Given the description of an element on the screen output the (x, y) to click on. 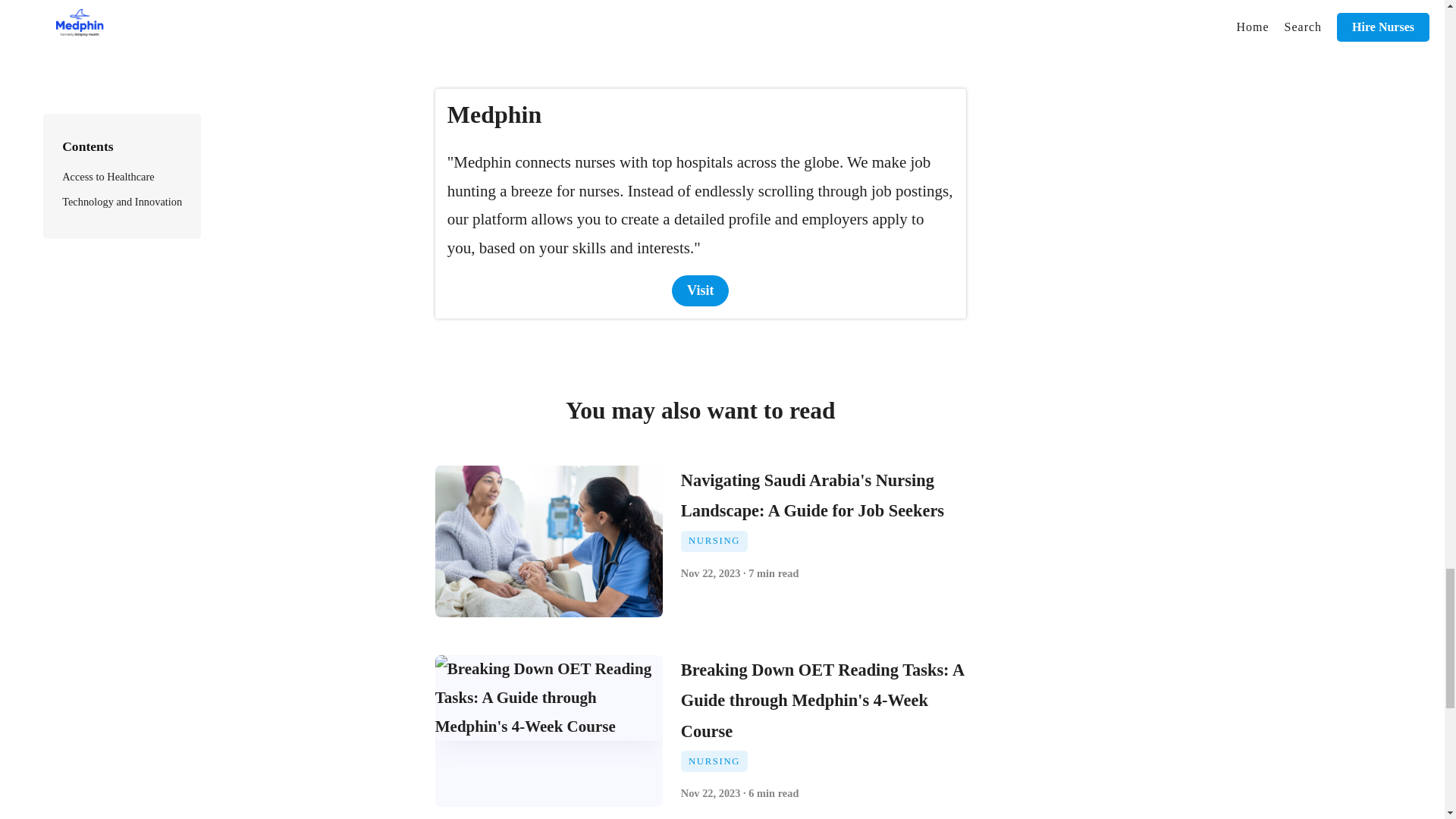
Visit (700, 290)
